Given the description of an element on the screen output the (x, y) to click on. 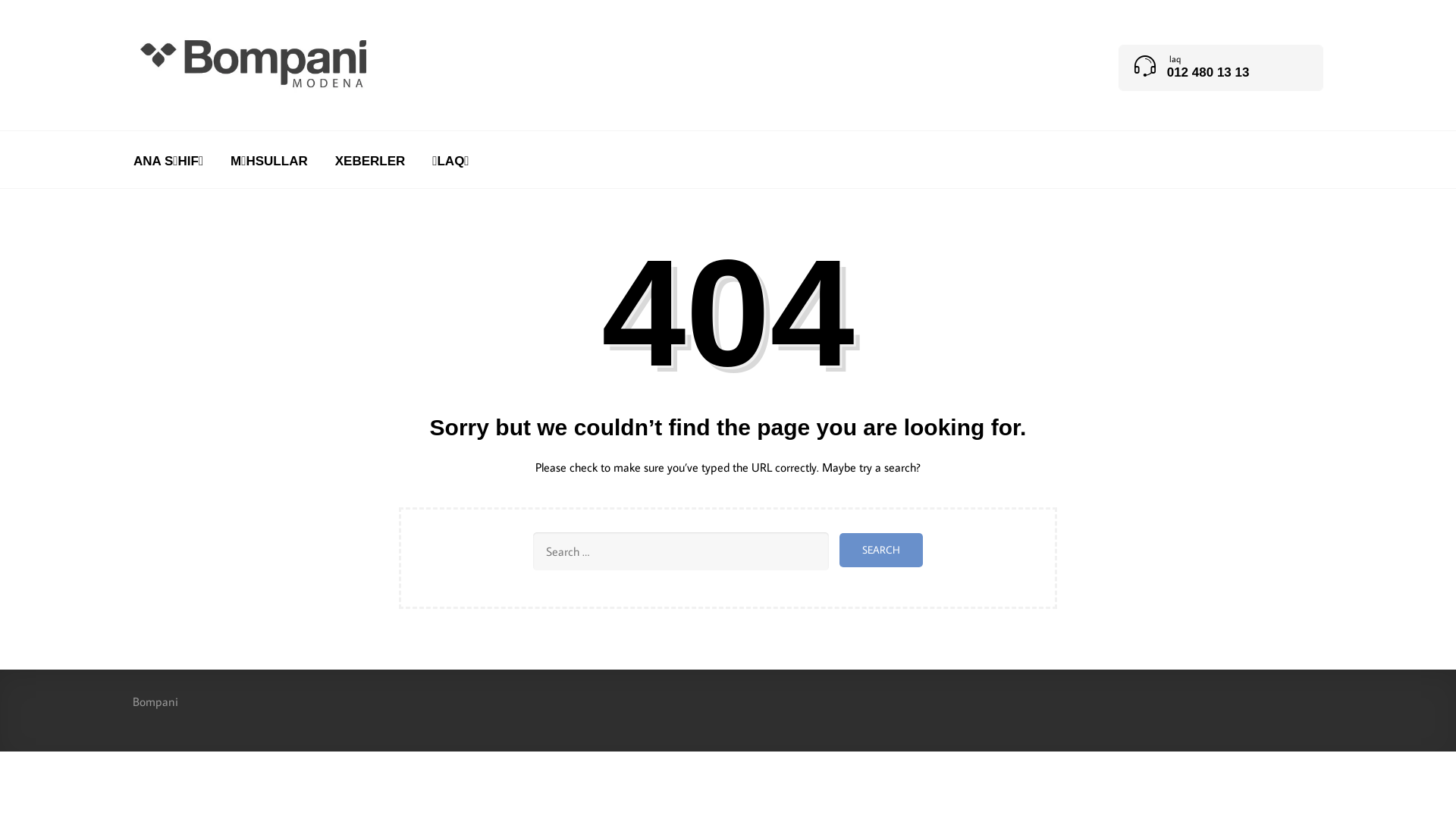
XEBERLER Element type: text (370, 160)
Search Element type: text (880, 550)
